Given the description of an element on the screen output the (x, y) to click on. 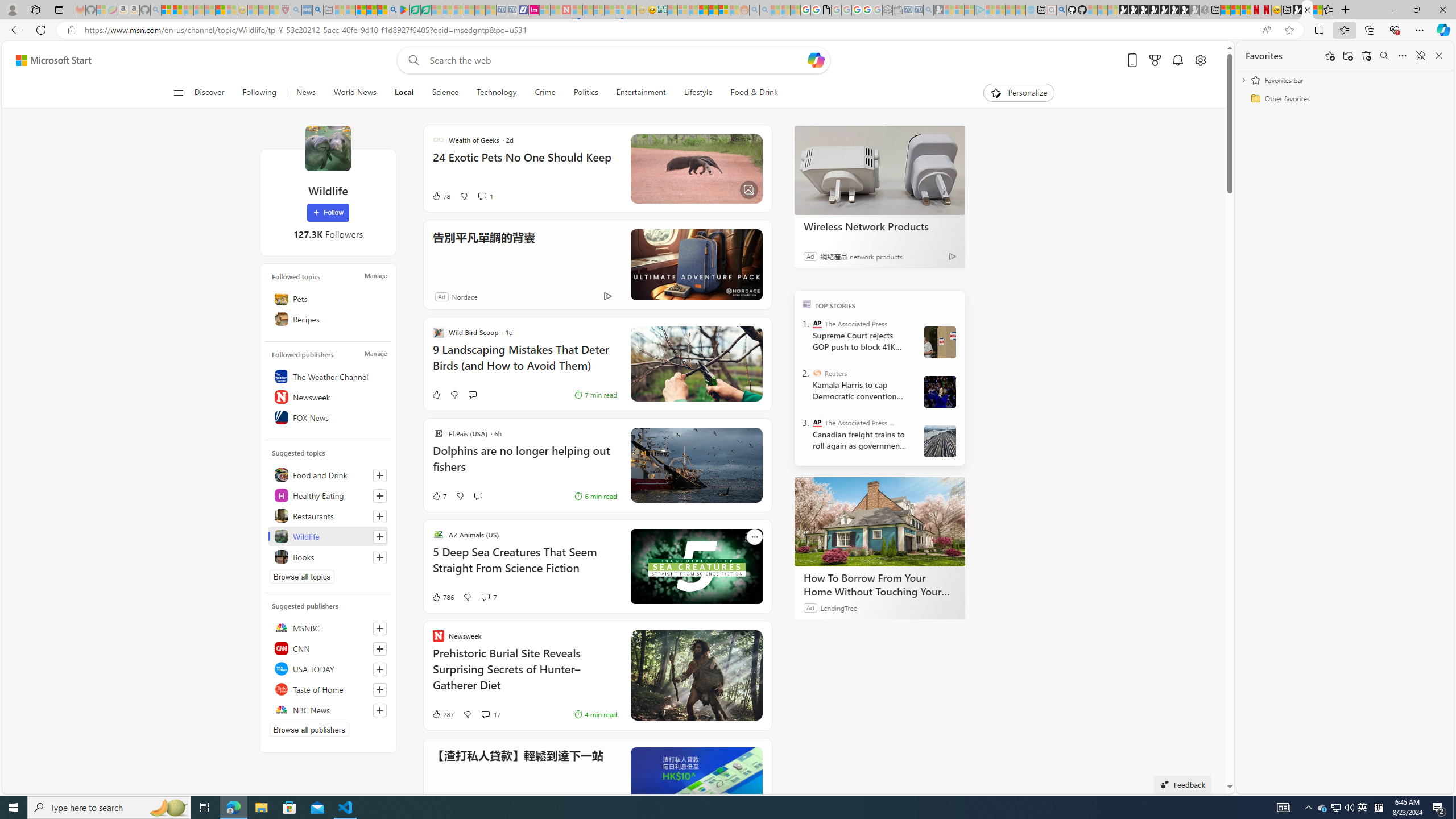
5 Deep Sea Creatures That Seem Straight From Science Fiction (524, 565)
Food and Drink (327, 474)
CNN (327, 647)
View comments 17 Comment (490, 714)
